Given the description of an element on the screen output the (x, y) to click on. 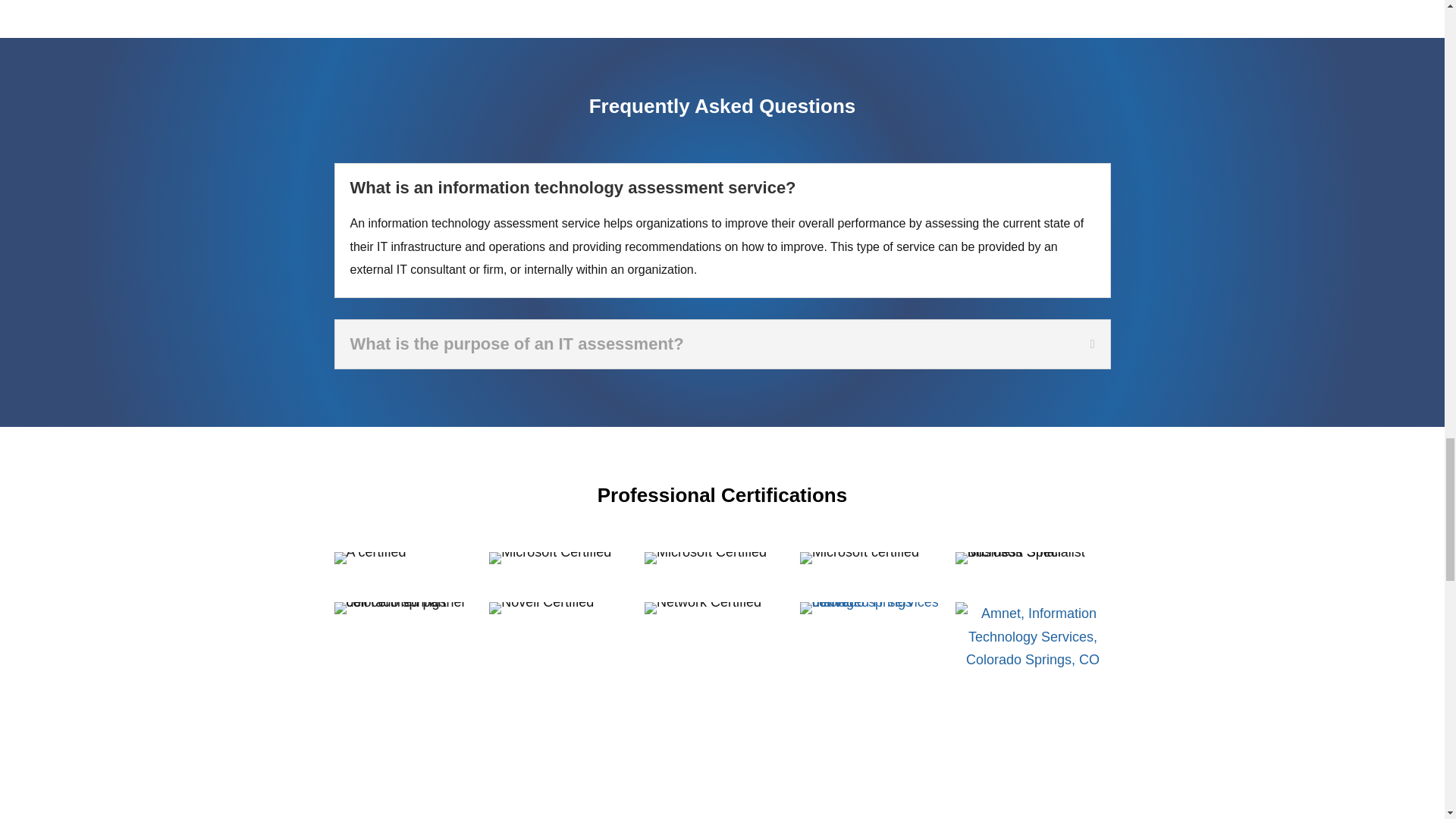
mcp1 (858, 558)
mcsa1 (706, 558)
sbsc (1032, 558)
dell-partner (411, 607)
mcse (550, 558)
a-certification (369, 558)
